Given the description of an element on the screen output the (x, y) to click on. 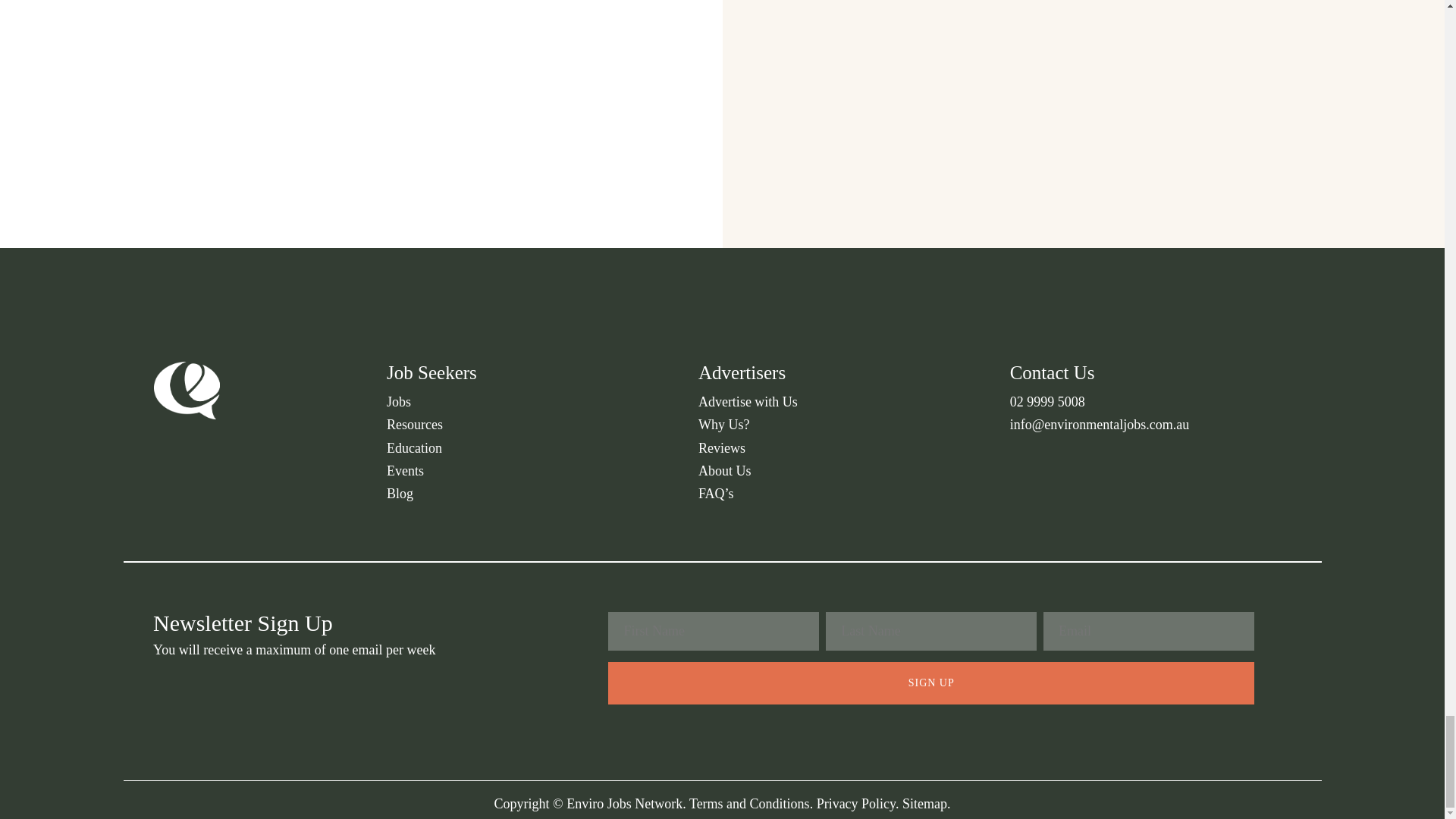
SIGN UP (930, 682)
